Given the description of an element on the screen output the (x, y) to click on. 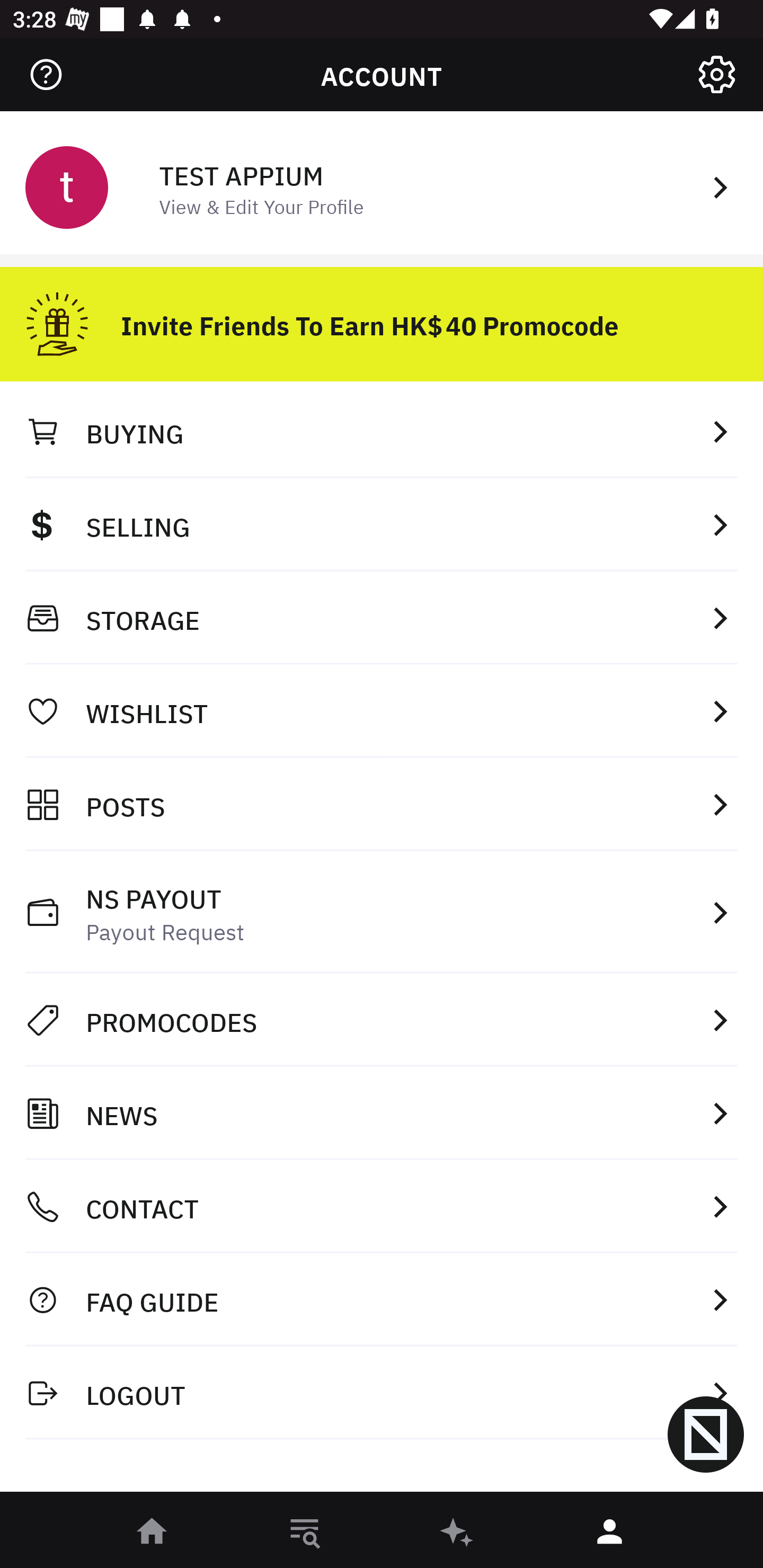
 (46, 74)
 (716, 74)
TEST APPIUM View & Edit Your Profile  (381, 185)
Invite Friends To Earn HK$ 40 Promocode (381, 317)
 BUYING  (381, 431)
 SELLING  (381, 524)
 STORAGE  (381, 617)
 WISHLIST  (381, 710)
 POSTS  (381, 804)
 0 NS PAYOUT Payout Request  (381, 912)
 PROMOCODES  (381, 1019)
 NEWS  (381, 1113)
 CONTACT  (381, 1206)
 FAQ GUIDE  (381, 1298)
 LOGOUT  (381, 1392)
󰋜 (152, 1532)
󱎸 (305, 1532)
󰫢 (457, 1532)
󰀄 (610, 1532)
